Given the description of an element on the screen output the (x, y) to click on. 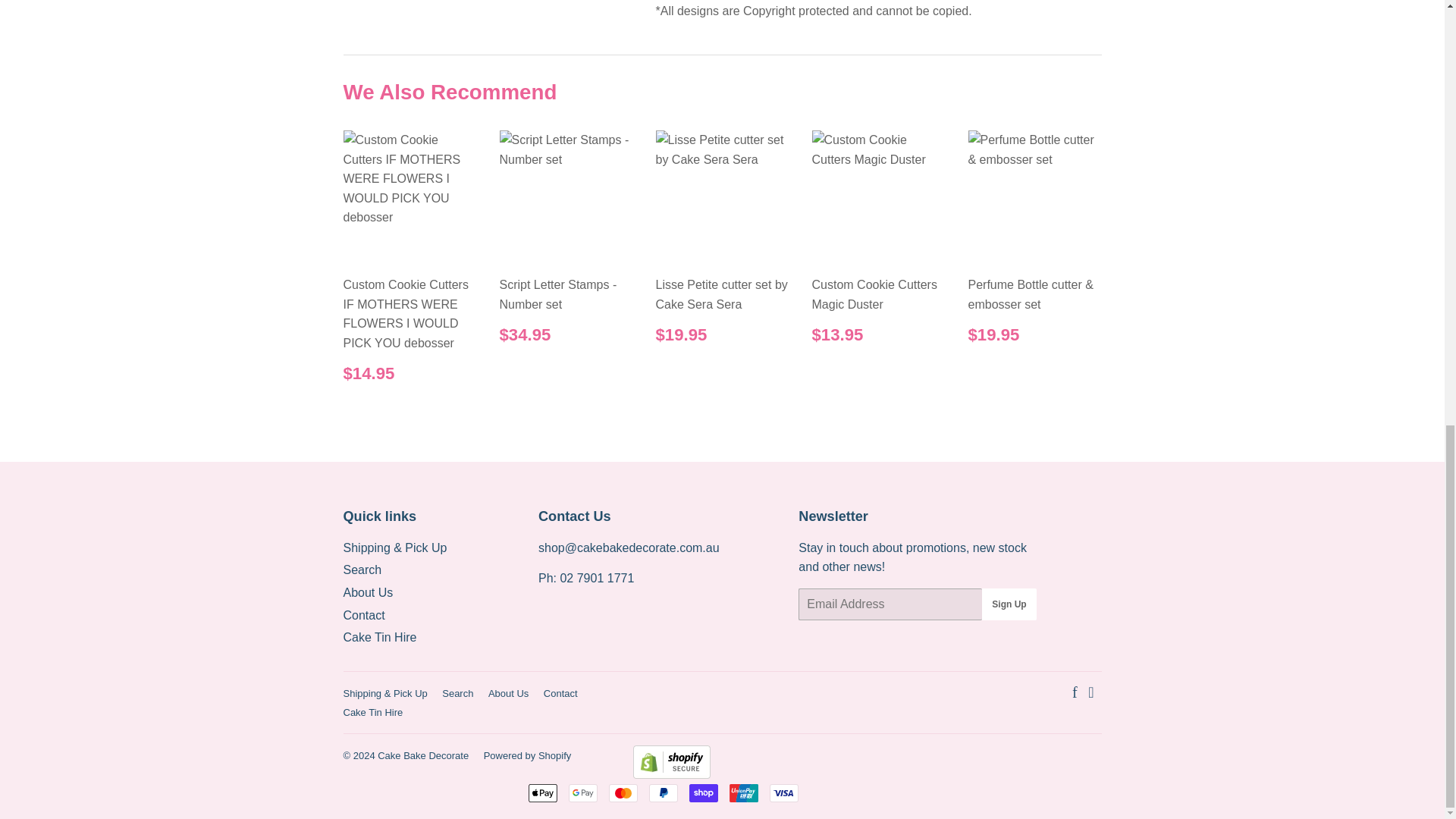
Visa (782, 792)
PayPal (663, 792)
Google Pay (582, 792)
This online store is secured by Shopify (670, 774)
Apple Pay (541, 792)
Shop Pay (702, 792)
Union Pay (743, 792)
Mastercard (622, 792)
